Given the description of an element on the screen output the (x, y) to click on. 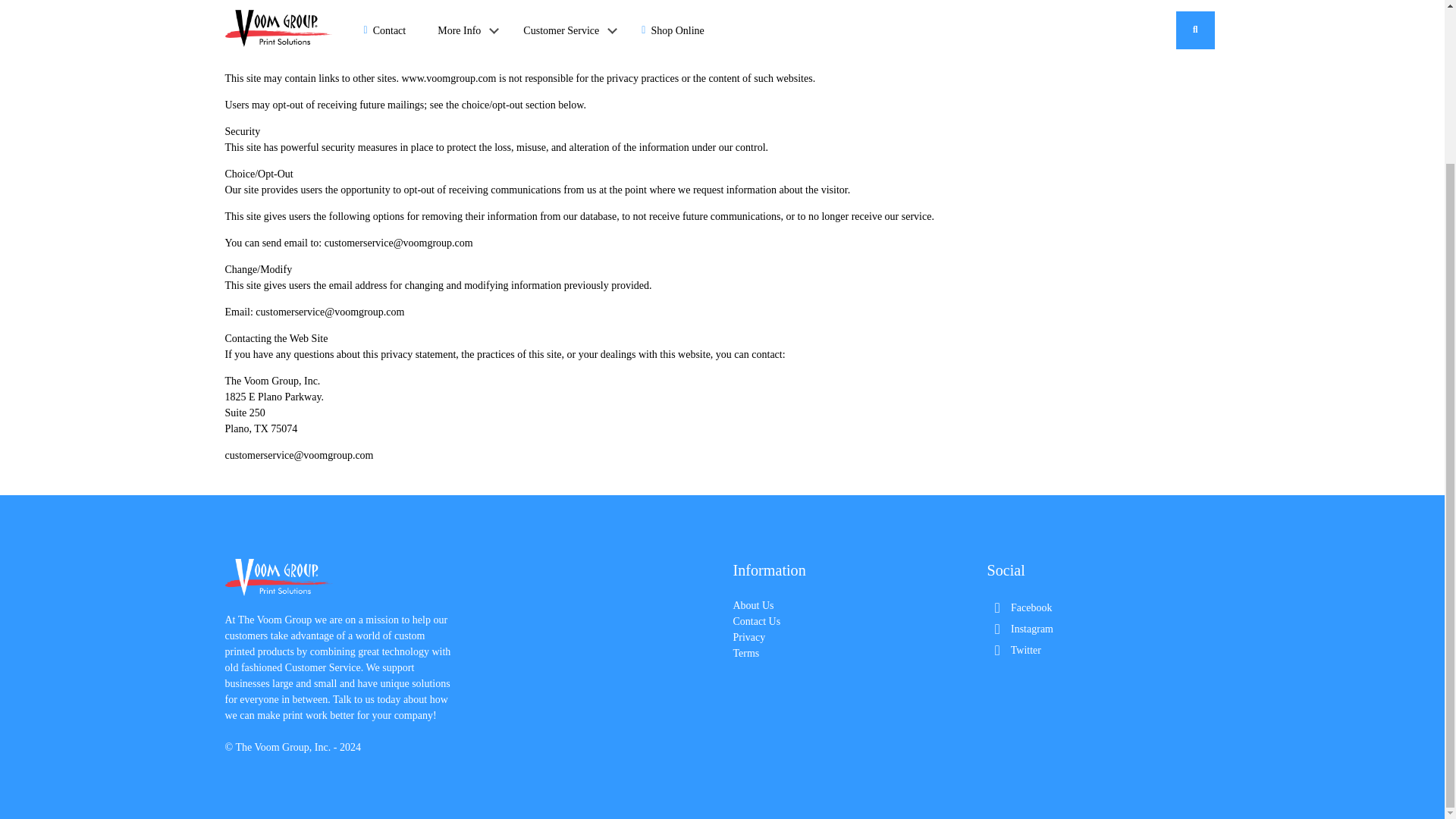
Facebook (1019, 607)
Twitter (1014, 650)
Contact Us (756, 621)
Privacy (748, 636)
Instagram (1019, 628)
About Us (752, 604)
Terms (745, 653)
